Given the description of an element on the screen output the (x, y) to click on. 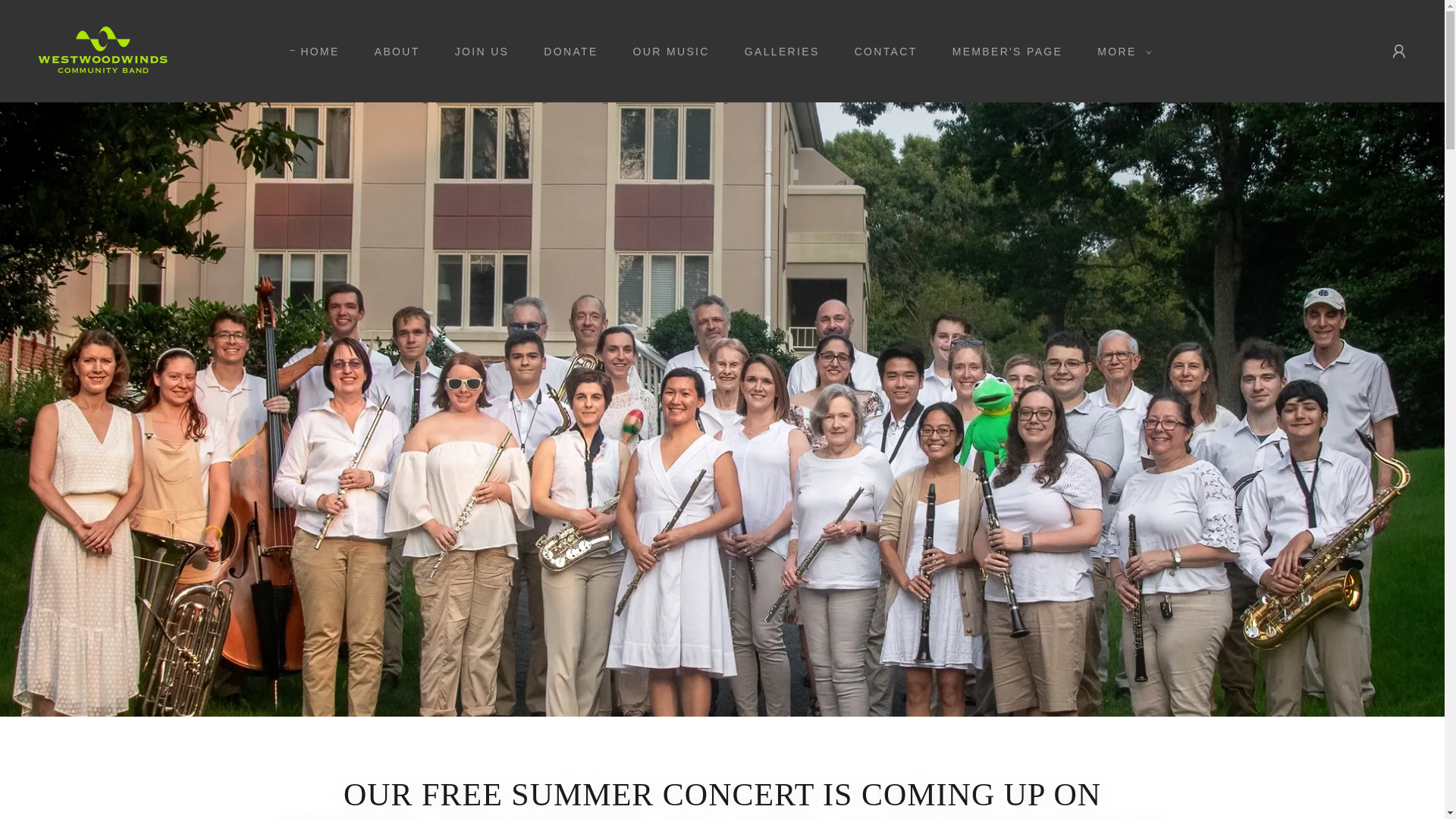
DONATE (565, 51)
MORE (1120, 51)
ABOUT (392, 51)
WESTWOODWINDS COMMUNITY BAND (103, 49)
MEMBER'S PAGE (1002, 51)
HOME (314, 51)
OUR MUSIC (665, 51)
GALLERIES (776, 51)
JOIN US (476, 51)
CONTACT (880, 51)
